Given the description of an element on the screen output the (x, y) to click on. 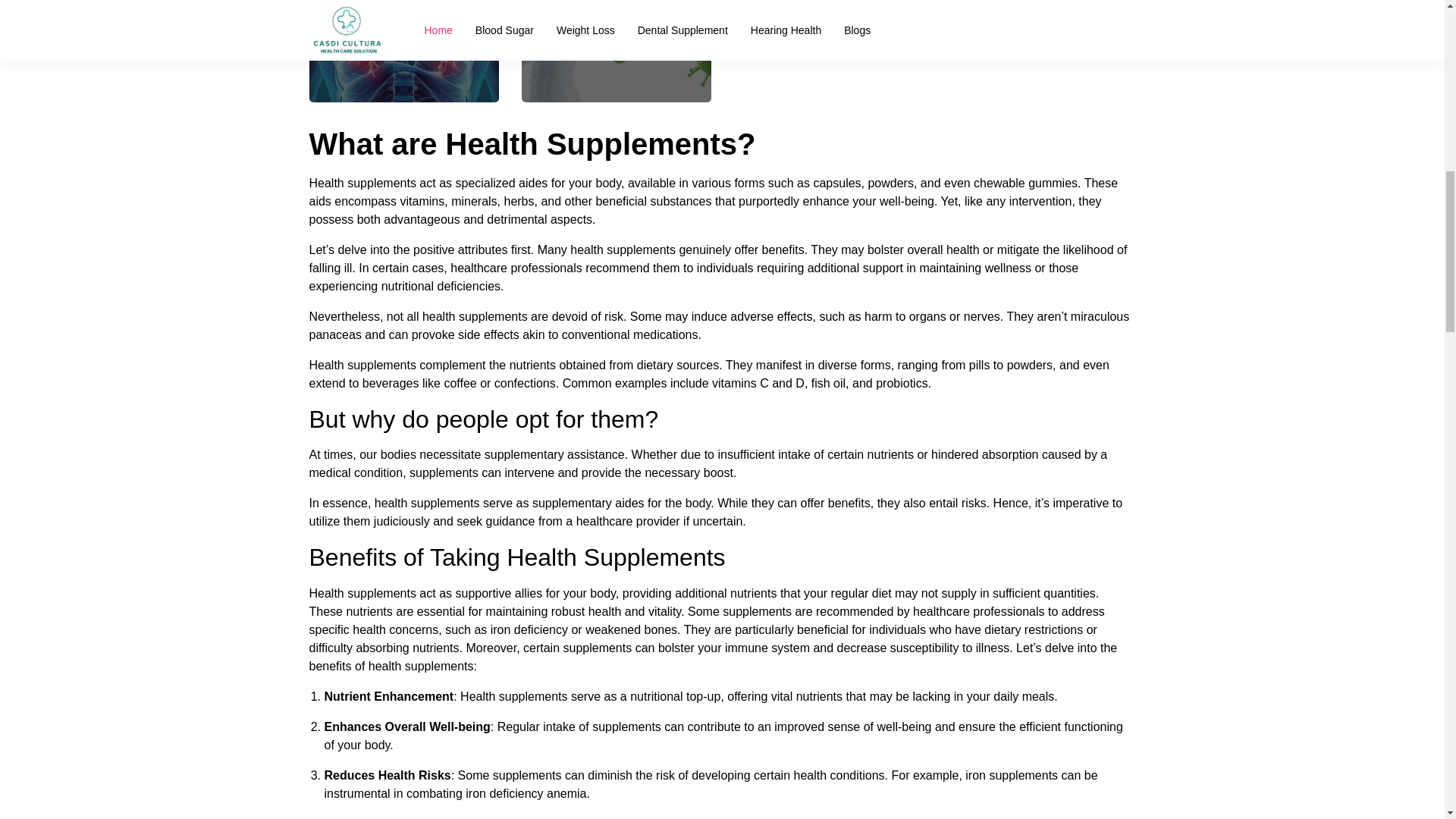
Respiratory Health Supplement (403, 51)
Immune System Supplements (616, 51)
